Given the description of an element on the screen output the (x, y) to click on. 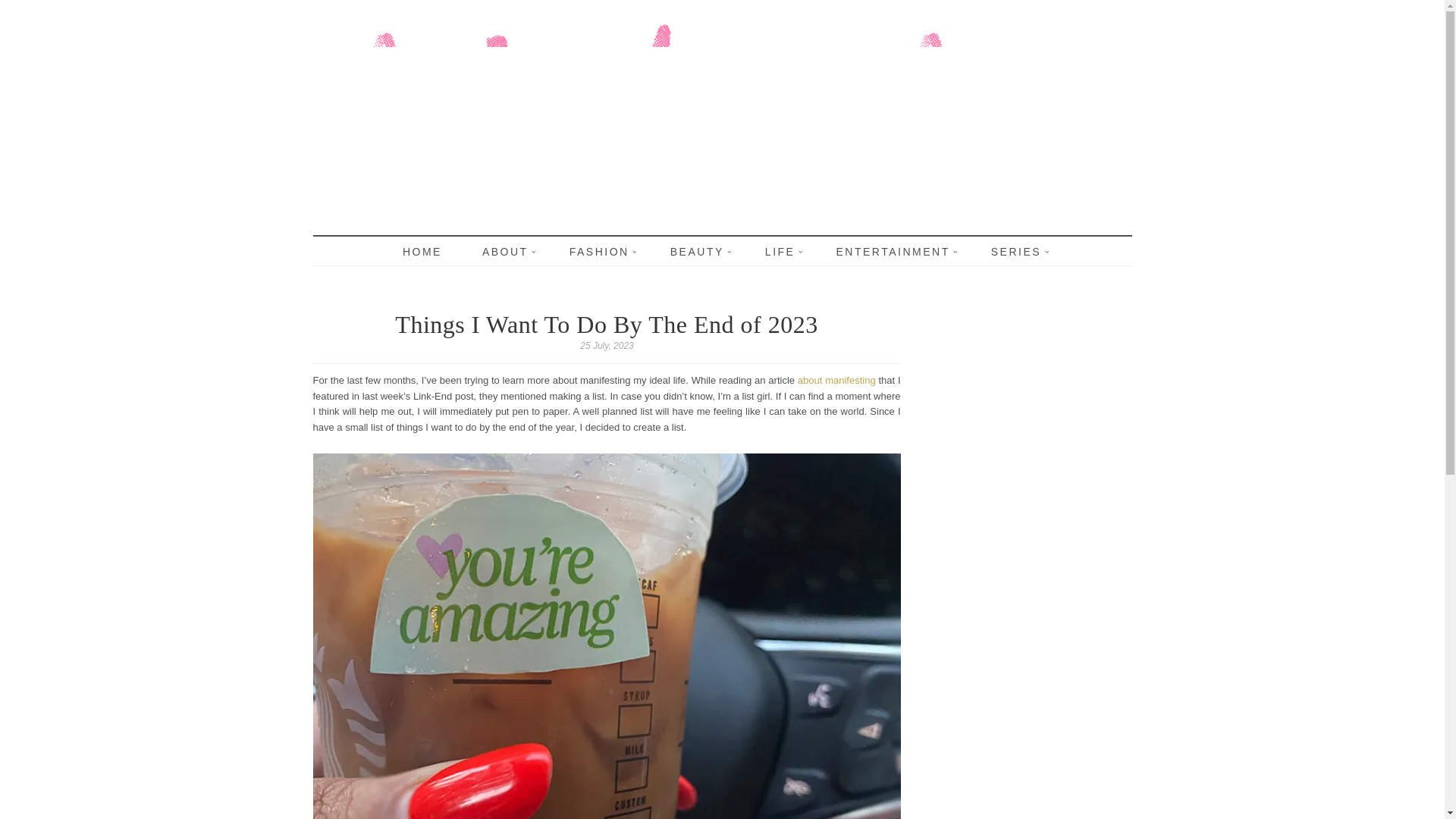
about manifesting (836, 379)
BEAUTY (697, 252)
STAINED COUTURE (603, 236)
FASHION (599, 252)
LIFE (780, 252)
SERIES (1016, 252)
ENTERTAINMENT (892, 252)
HOME (422, 252)
ABOUT (505, 252)
25 July, 2023 (606, 345)
